Given the description of an element on the screen output the (x, y) to click on. 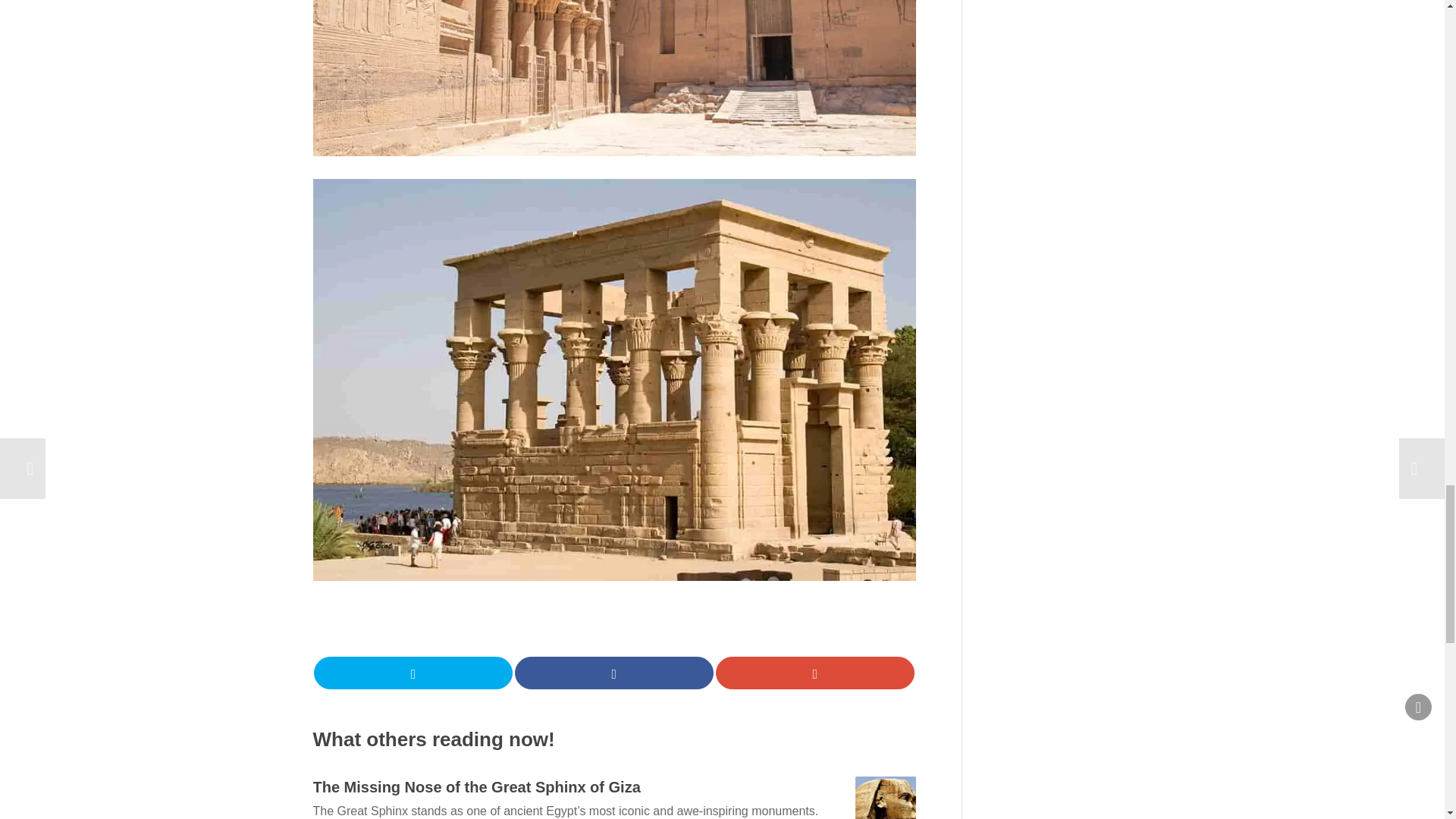
The Missing Nose of the Great Sphinx of Giza (885, 797)
The Missing Nose of the Great Sphinx of Giza (476, 786)
The Missing Nose of the Great Sphinx of Giza (476, 786)
